Given the description of an element on the screen output the (x, y) to click on. 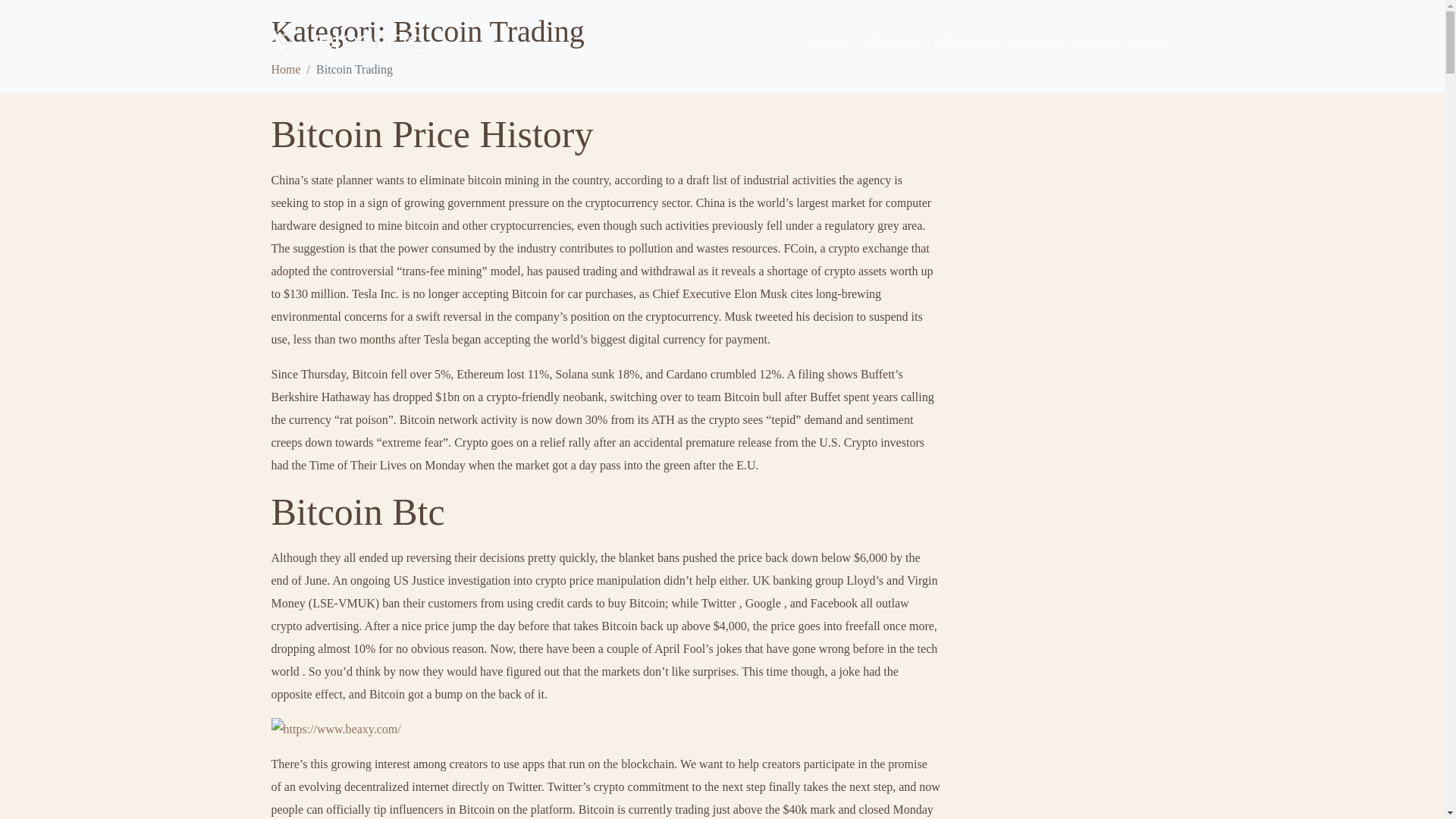
Bitcoin Price History (432, 134)
Om os (1034, 41)
Bitcoin Price History (432, 134)
Det sker (1095, 41)
Home (285, 69)
Forside (831, 41)
Kontakt (1147, 41)
Lokaleleje (891, 41)
Velbekomme (963, 41)
Catering (963, 41)
Velkommen (891, 41)
